Given the description of an element on the screen output the (x, y) to click on. 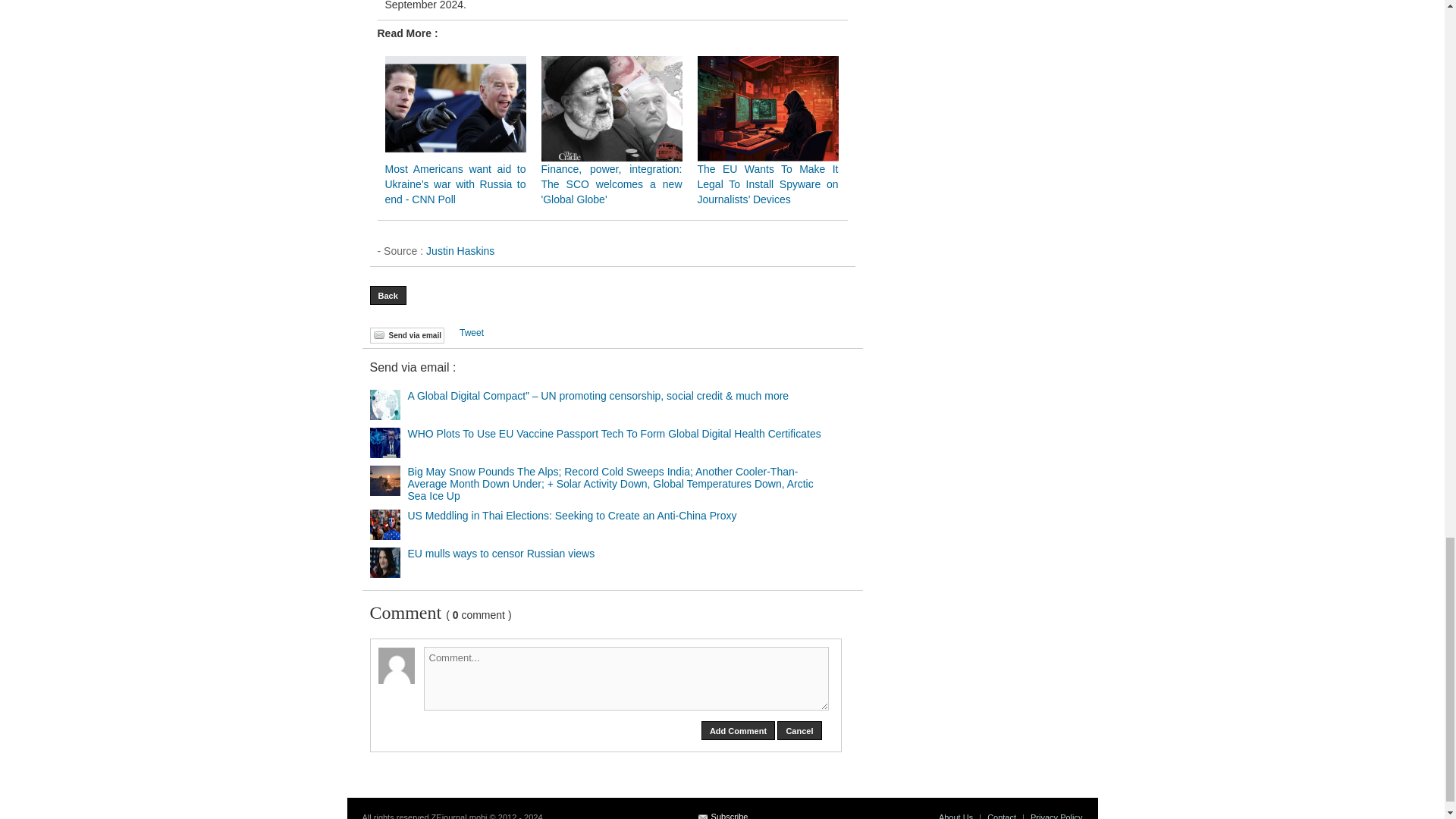
Add Comment (737, 730)
Tweet (471, 332)
Justin Haskins (460, 250)
Back (387, 294)
Send via email (406, 335)
